Given the description of an element on the screen output the (x, y) to click on. 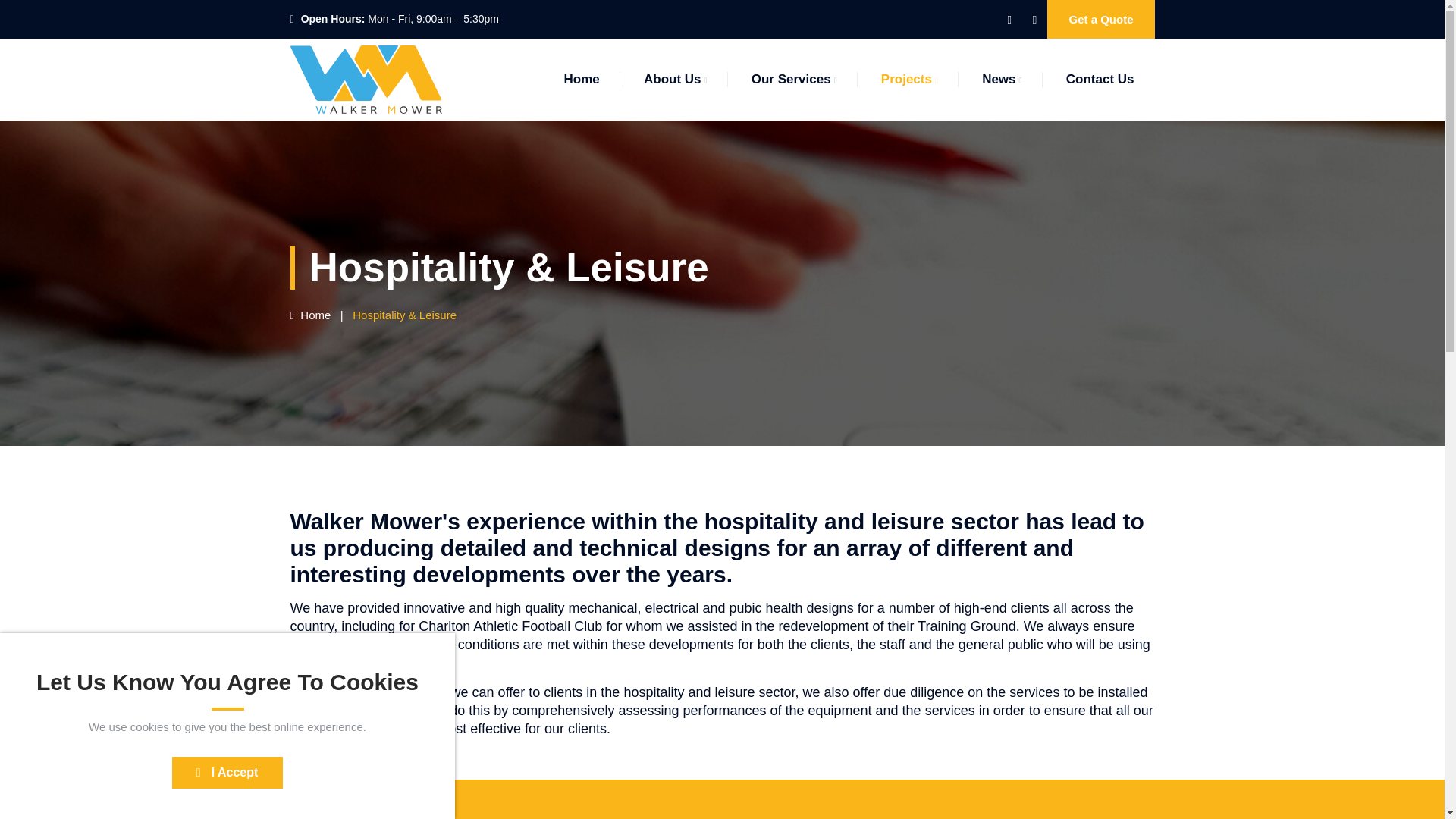
Walker Mower Ltd. (365, 78)
Get a Quote (1100, 19)
Our Services (794, 79)
Homepage (309, 314)
  Home (309, 314)
